Given the description of an element on the screen output the (x, y) to click on. 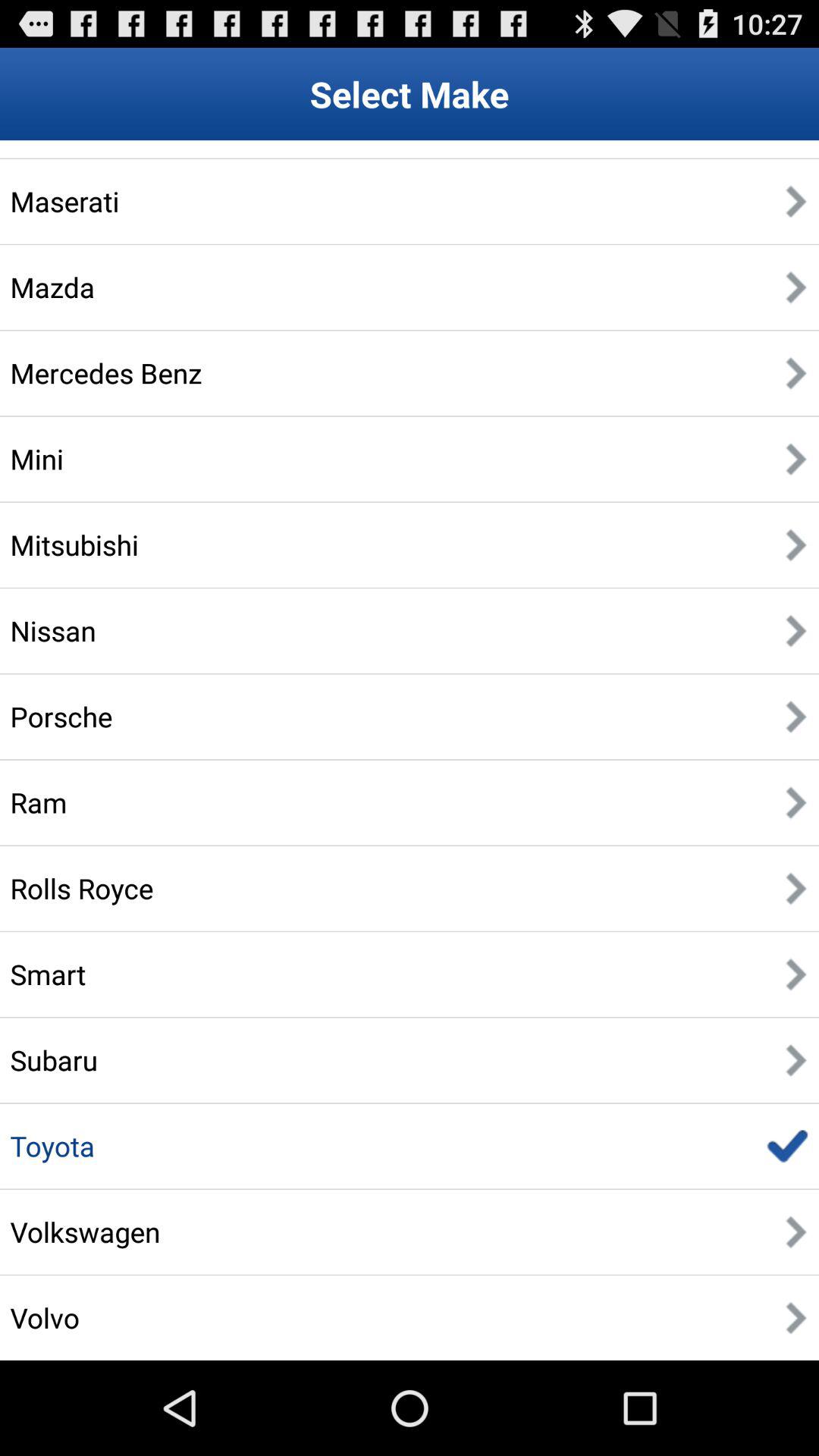
swipe until the mitsubishi app (74, 544)
